Given the description of an element on the screen output the (x, y) to click on. 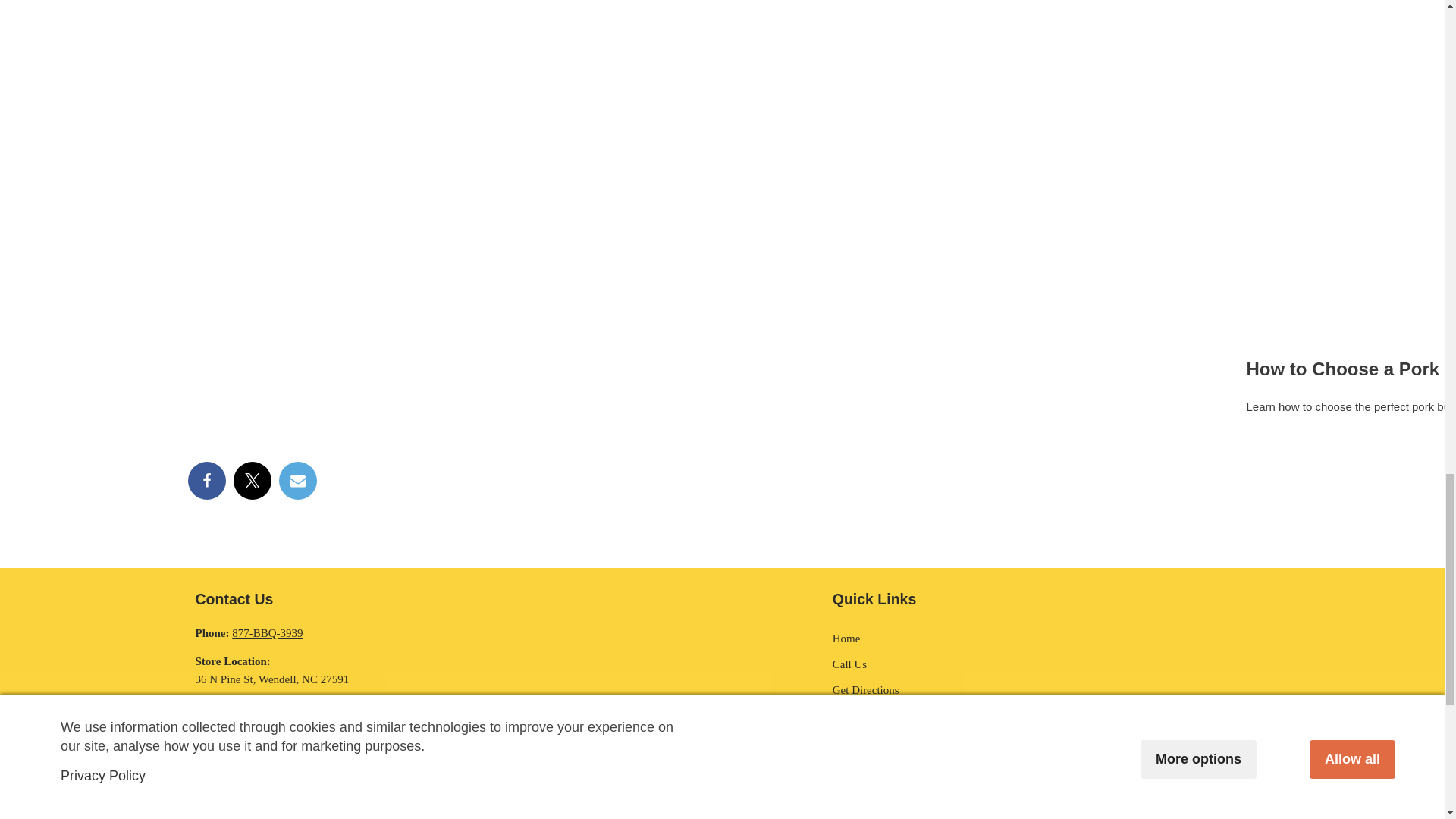
X (251, 480)
Facebook (206, 480)
Email (298, 480)
